Given the description of an element on the screen output the (x, y) to click on. 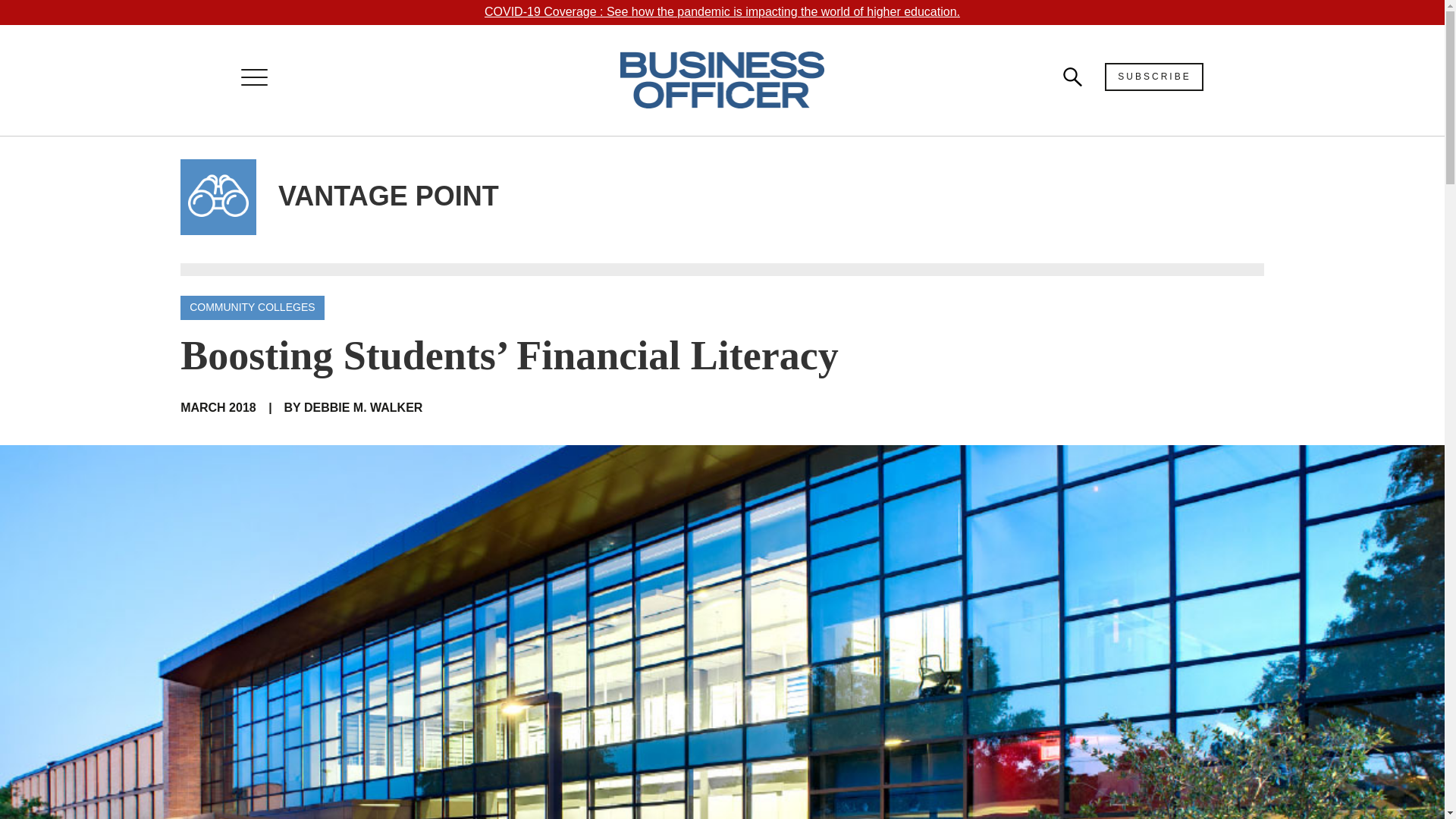
SUBSCRIBE (1154, 76)
